Given the description of an element on the screen output the (x, y) to click on. 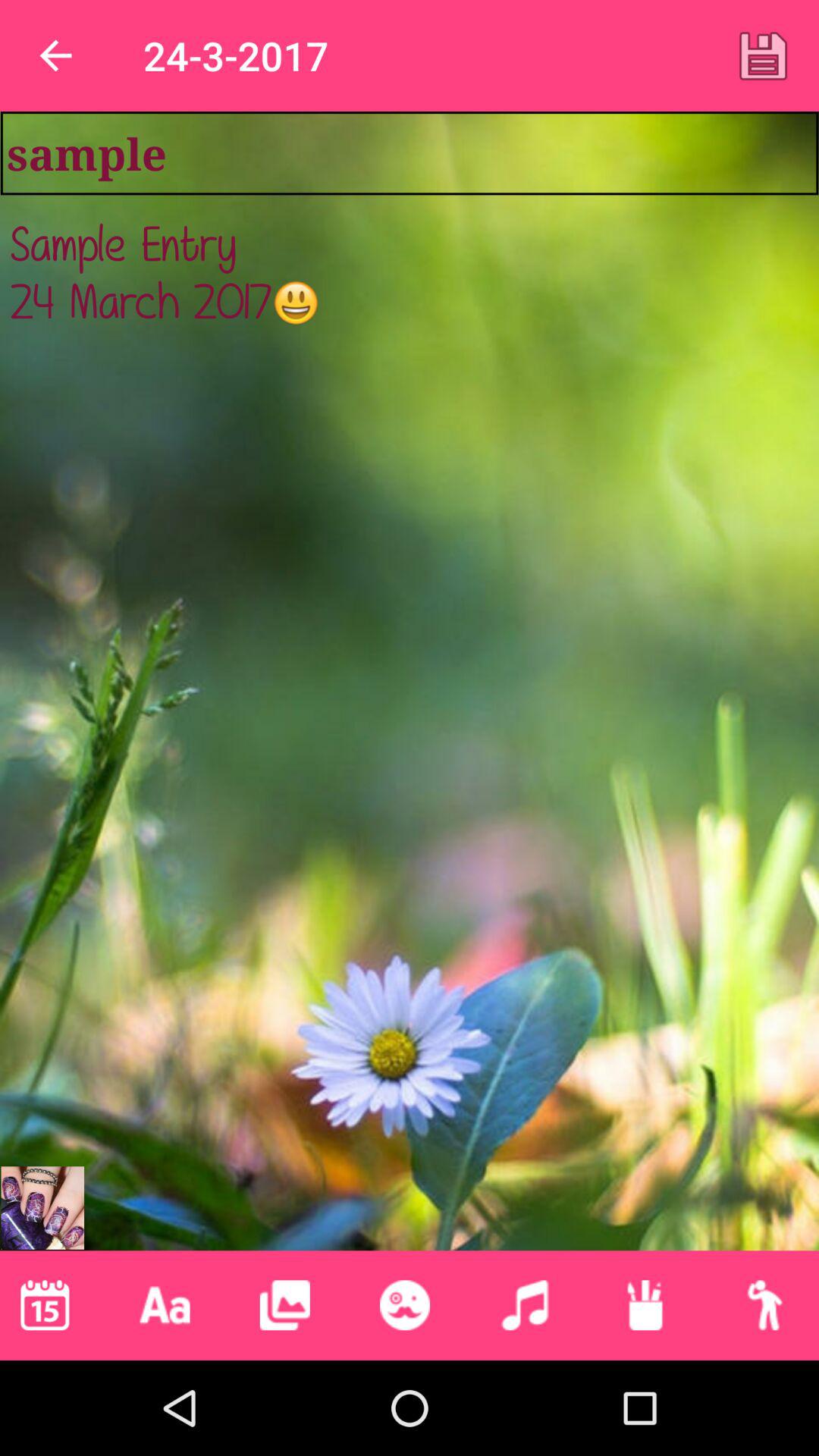
save entry (763, 55)
